Given the description of an element on the screen output the (x, y) to click on. 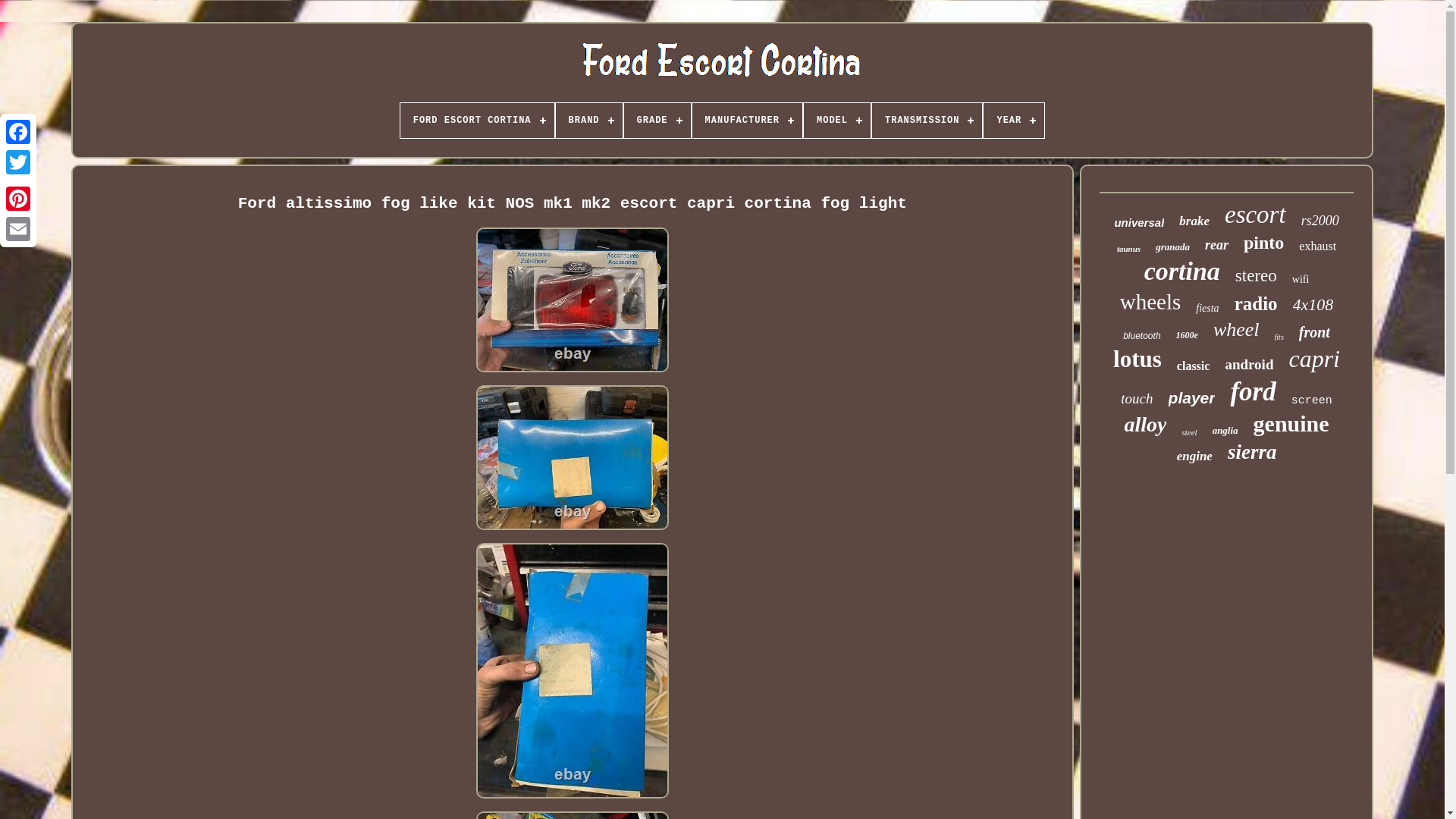
FORD ESCORT CORTINA (477, 120)
GRADE (657, 120)
Email (17, 228)
MANUFACTURER (747, 120)
BRAND (589, 120)
